Given the description of an element on the screen output the (x, y) to click on. 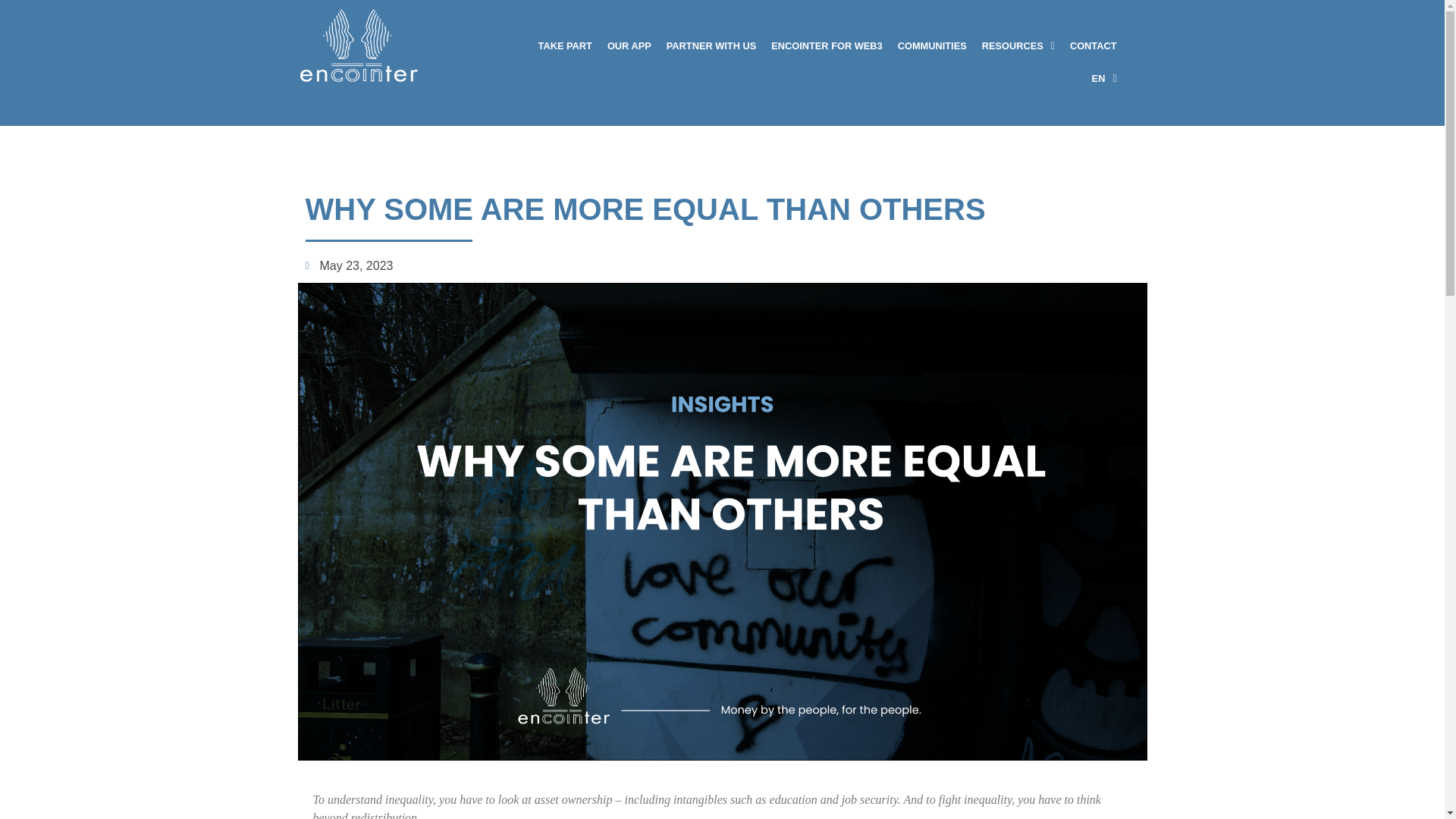
PARTNER WITH US (710, 46)
COMMUNITIES (931, 46)
EN (1104, 79)
RESOURCES (1018, 46)
ENCOINTER FOR WEB3 (825, 46)
OUR APP (629, 46)
May 23, 2023 (348, 266)
CONTACT (1093, 46)
TAKE PART (565, 46)
Encointer-Logo-160X100px (358, 45)
